Given the description of an element on the screen output the (x, y) to click on. 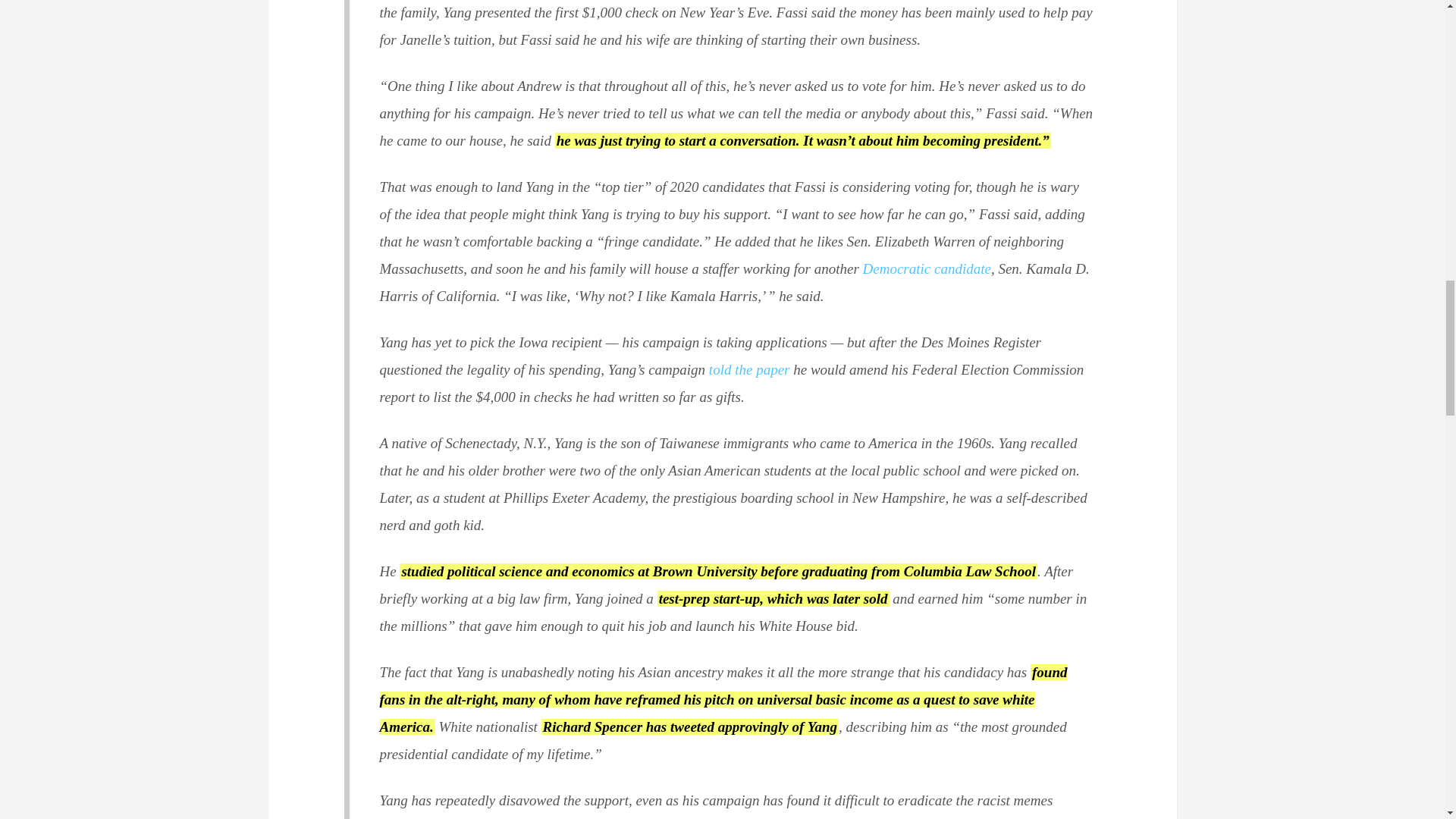
told the paper (749, 369)
Democratic candidate (927, 268)
